Given the description of an element on the screen output the (x, y) to click on. 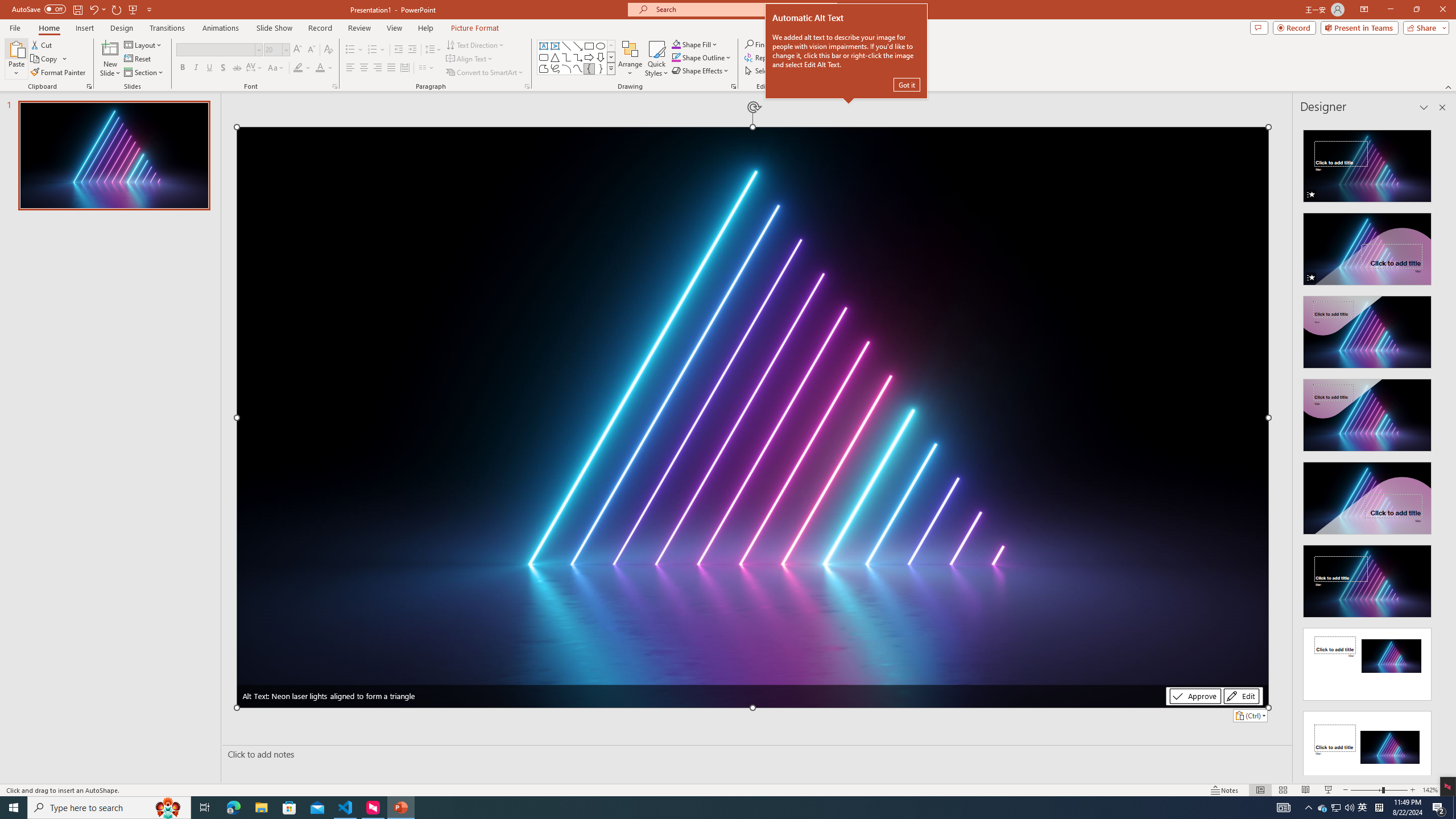
Design Idea with Animation (1366, 245)
